Given the description of an element on the screen output the (x, y) to click on. 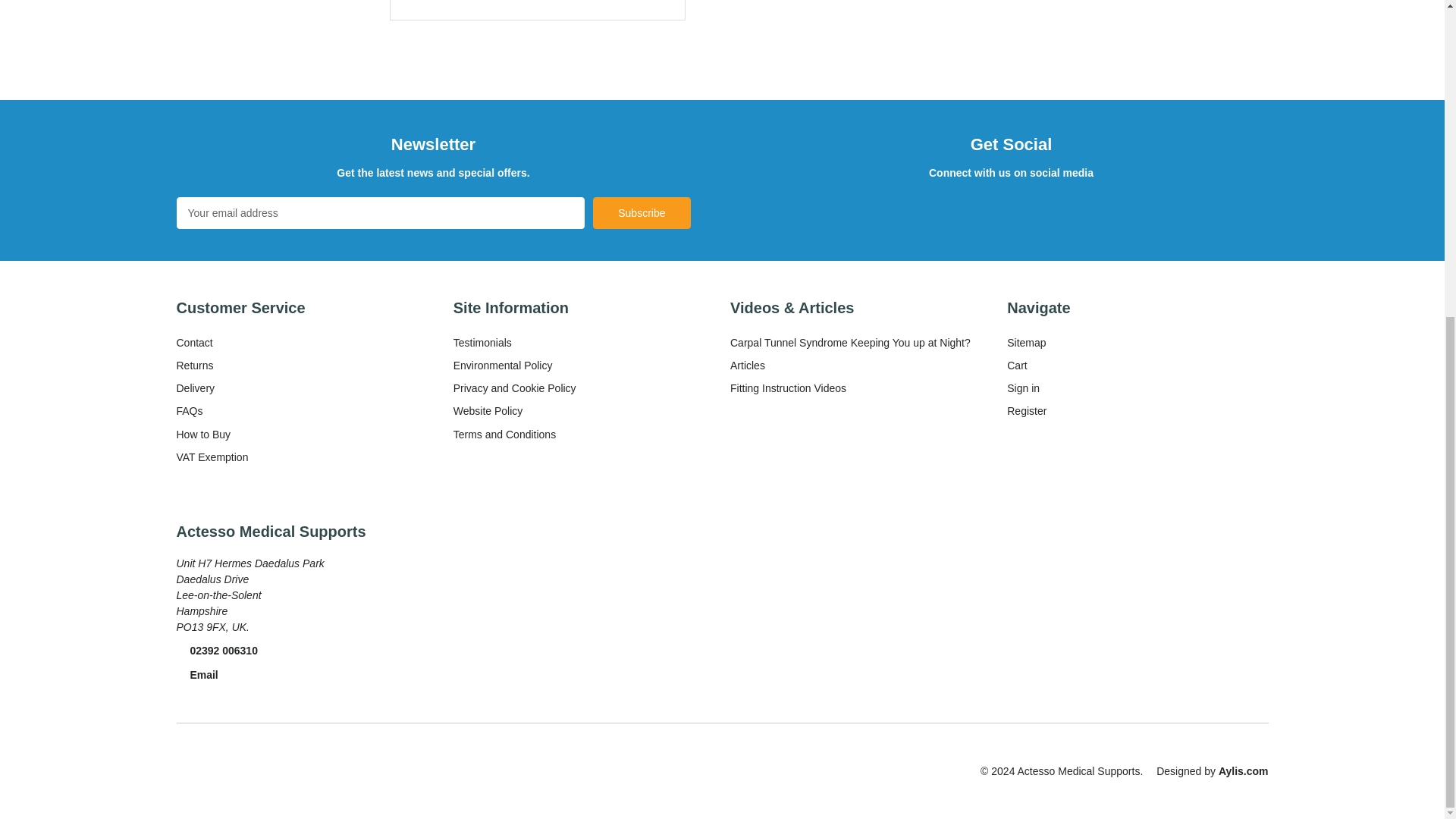
Subscribe (641, 213)
Facebook (958, 210)
X (996, 210)
Instagram (1072, 210)
Youtube (1034, 210)
